Given the description of an element on the screen output the (x, y) to click on. 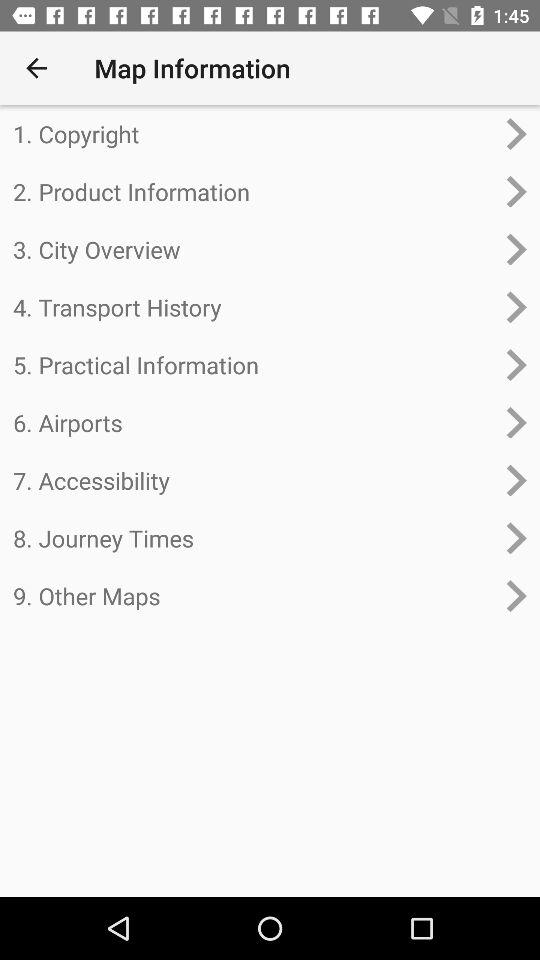
jump to the 6. airports item (253, 422)
